Given the description of an element on the screen output the (x, y) to click on. 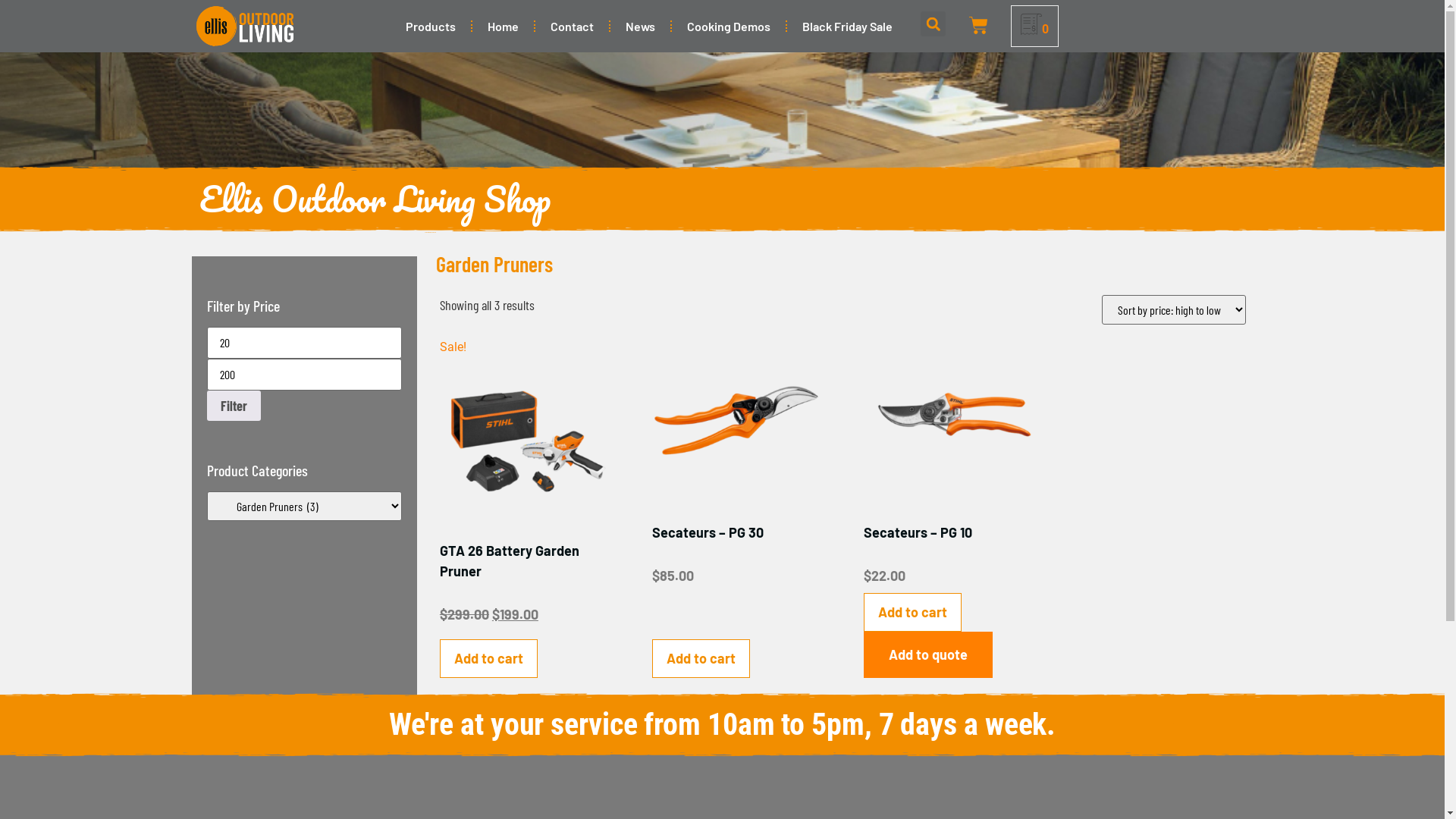
Add to quote Element type: text (927, 654)
Home Element type: text (502, 26)
Black Friday Sale Element type: text (847, 26)
Contact Element type: text (571, 26)
Products Element type: text (430, 26)
Sale!
GTA 26 Battery Garden Pruner
$299.00 $199.00 Element type: text (524, 484)
Add to cart Element type: text (488, 658)
Filter Element type: text (233, 405)
0 Element type: text (1034, 28)
Cooking Demos Element type: text (728, 26)
News Element type: text (640, 26)
Add to cart Element type: text (700, 658)
Add to cart Element type: text (912, 612)
